Given the description of an element on the screen output the (x, y) to click on. 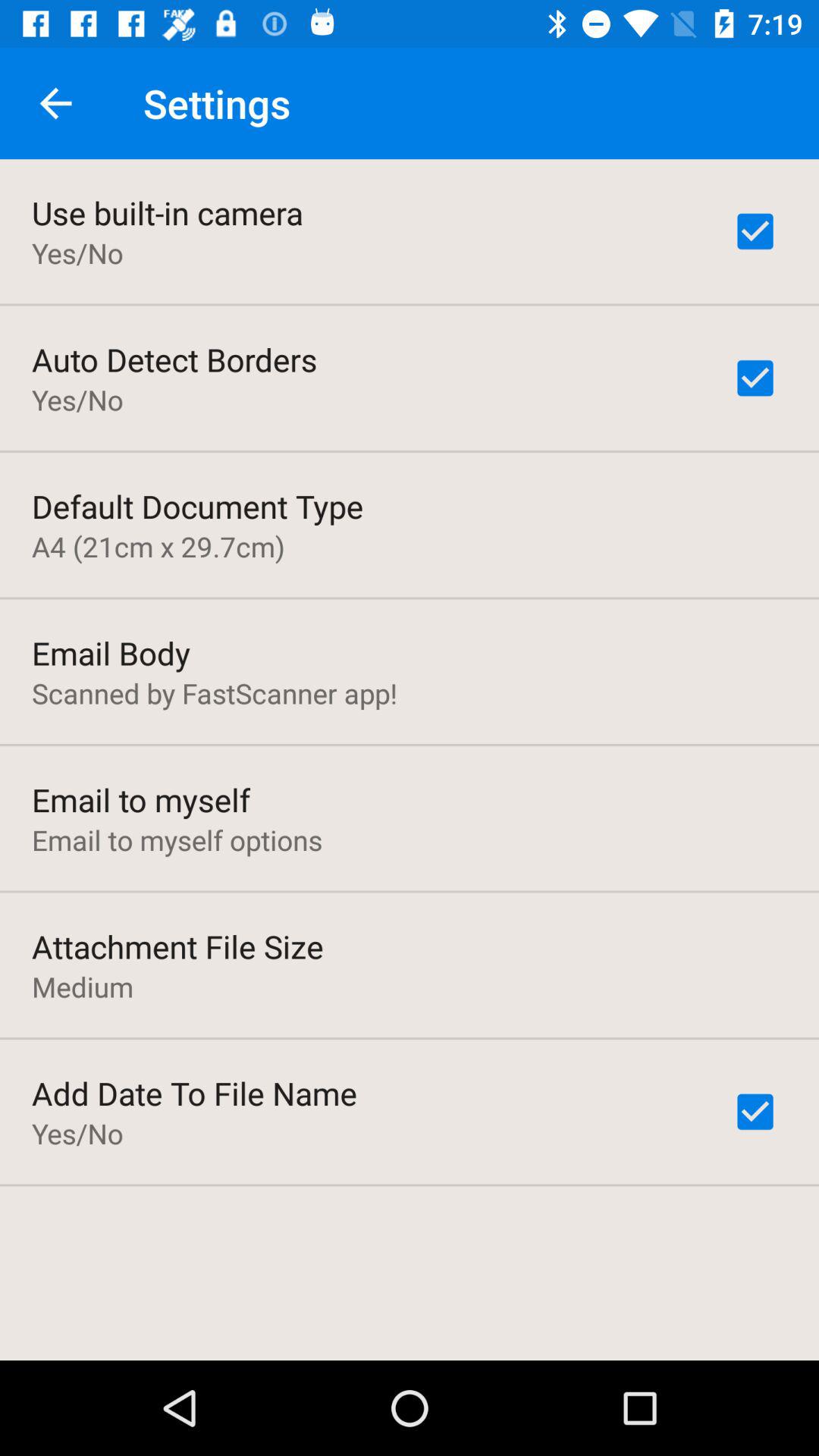
tap item below the yes/no item (197, 505)
